Given the description of an element on the screen output the (x, y) to click on. 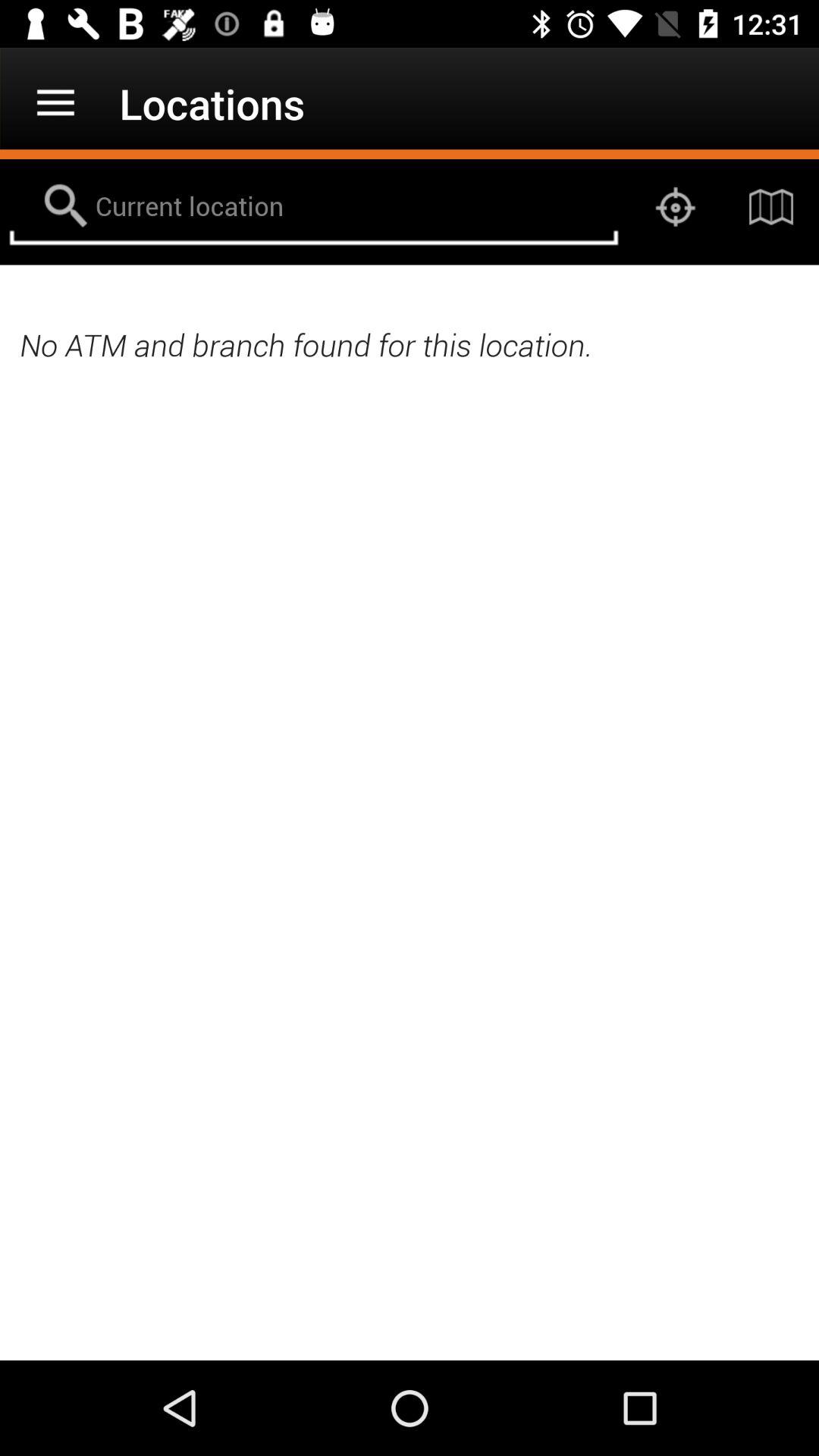
click the item above the no atm and icon (675, 206)
